Given the description of an element on the screen output the (x, y) to click on. 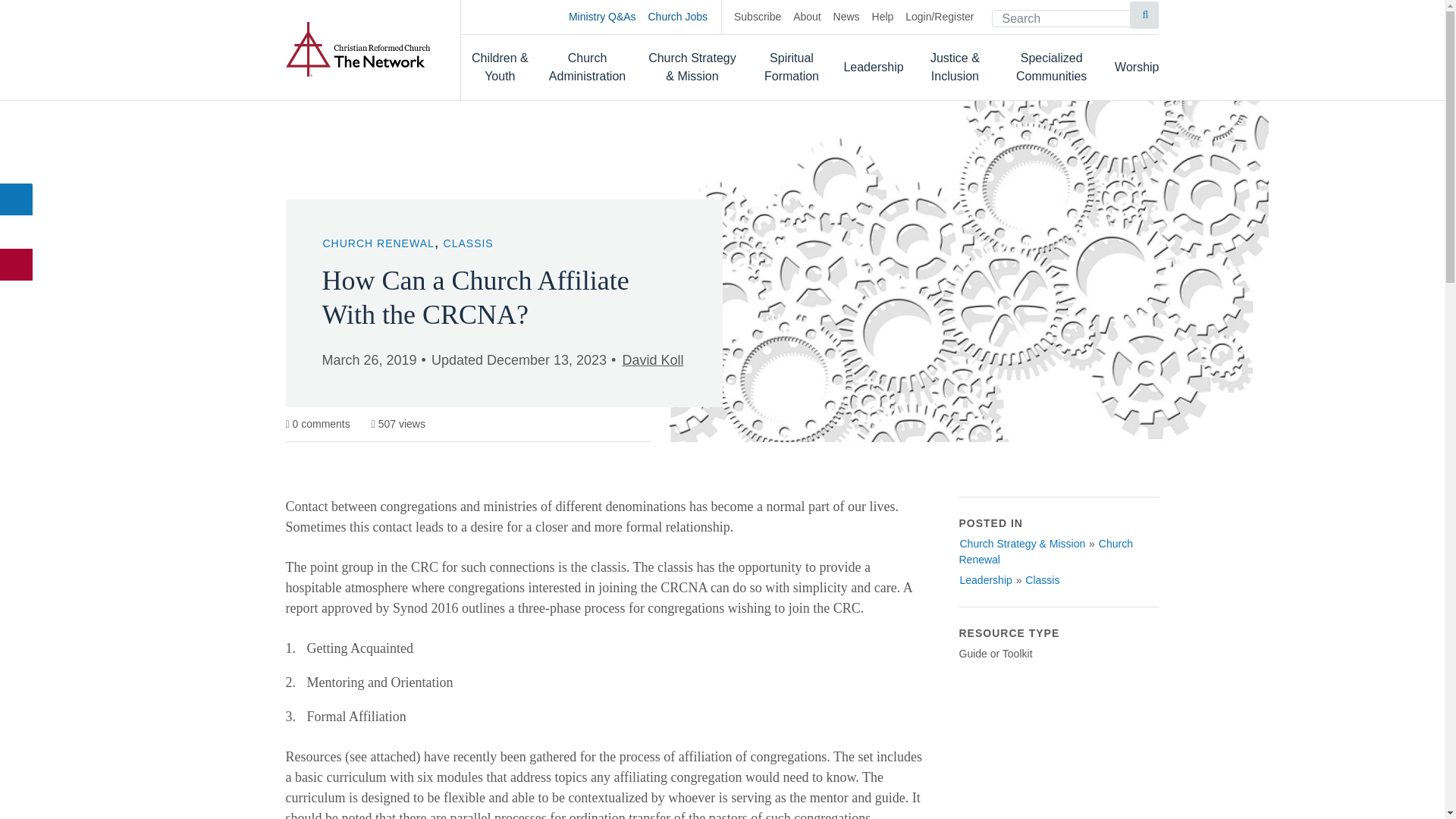
Submit (1143, 14)
CLASSIS (468, 243)
Home (357, 49)
Spiritual Formation (791, 67)
Share to Facebook (16, 199)
Leadership (872, 67)
Specialized Communities (1051, 67)
Share to X (16, 231)
Share to Email (16, 264)
